Given the description of an element on the screen output the (x, y) to click on. 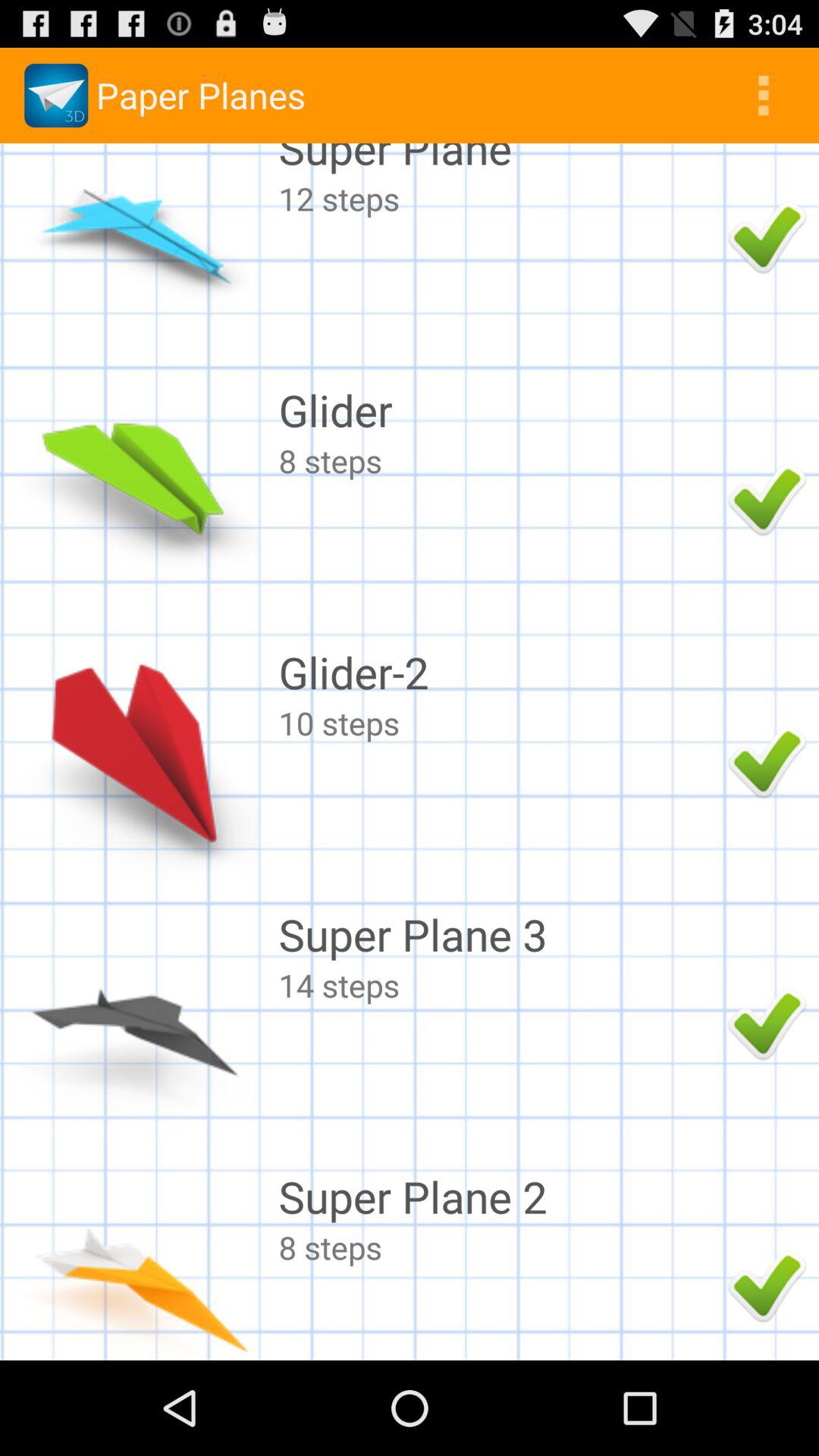
press the icon next to paper planes icon (763, 95)
